Given the description of an element on the screen output the (x, y) to click on. 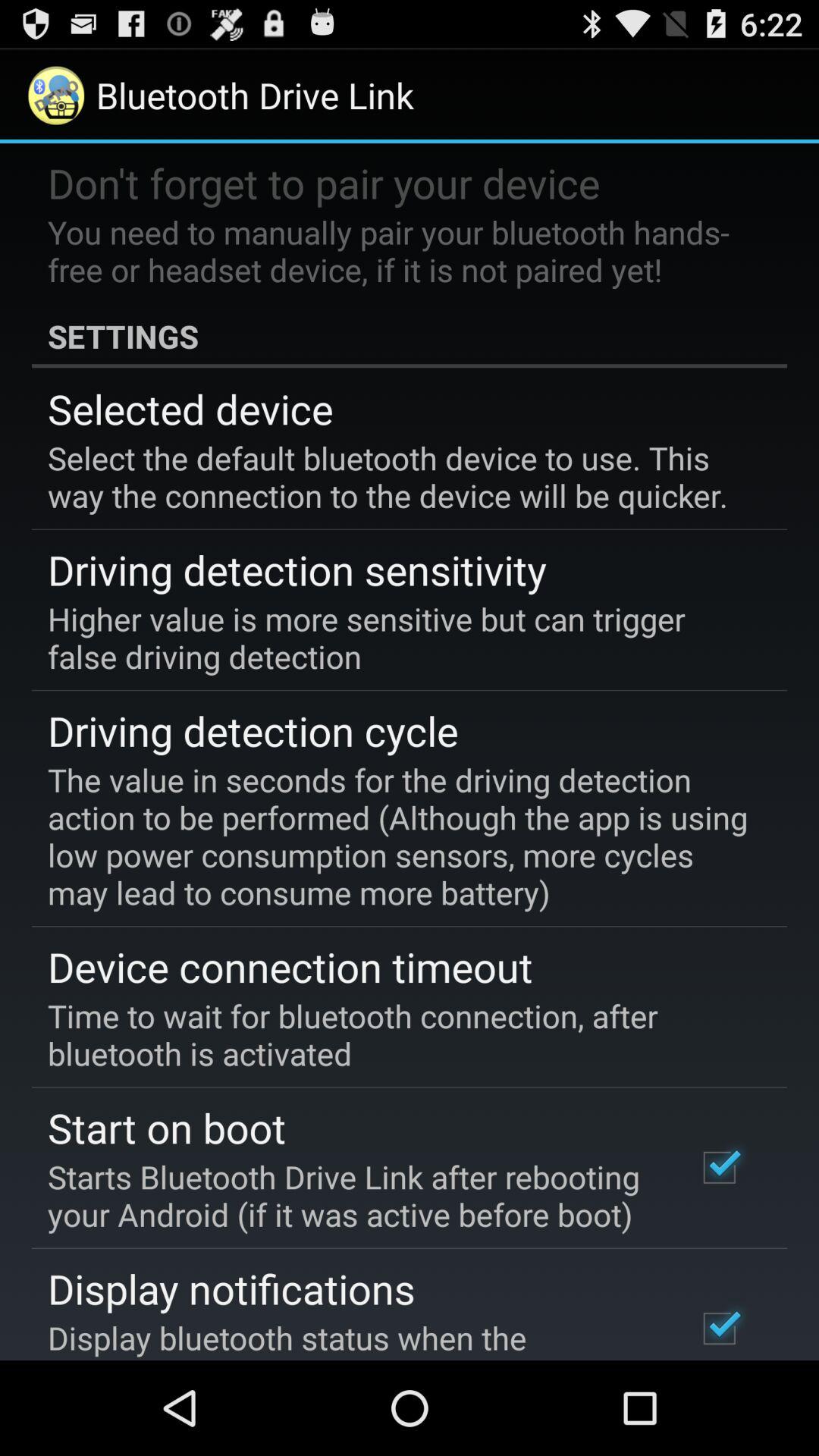
launch the item above start on boot icon (399, 1034)
